Given the description of an element on the screen output the (x, y) to click on. 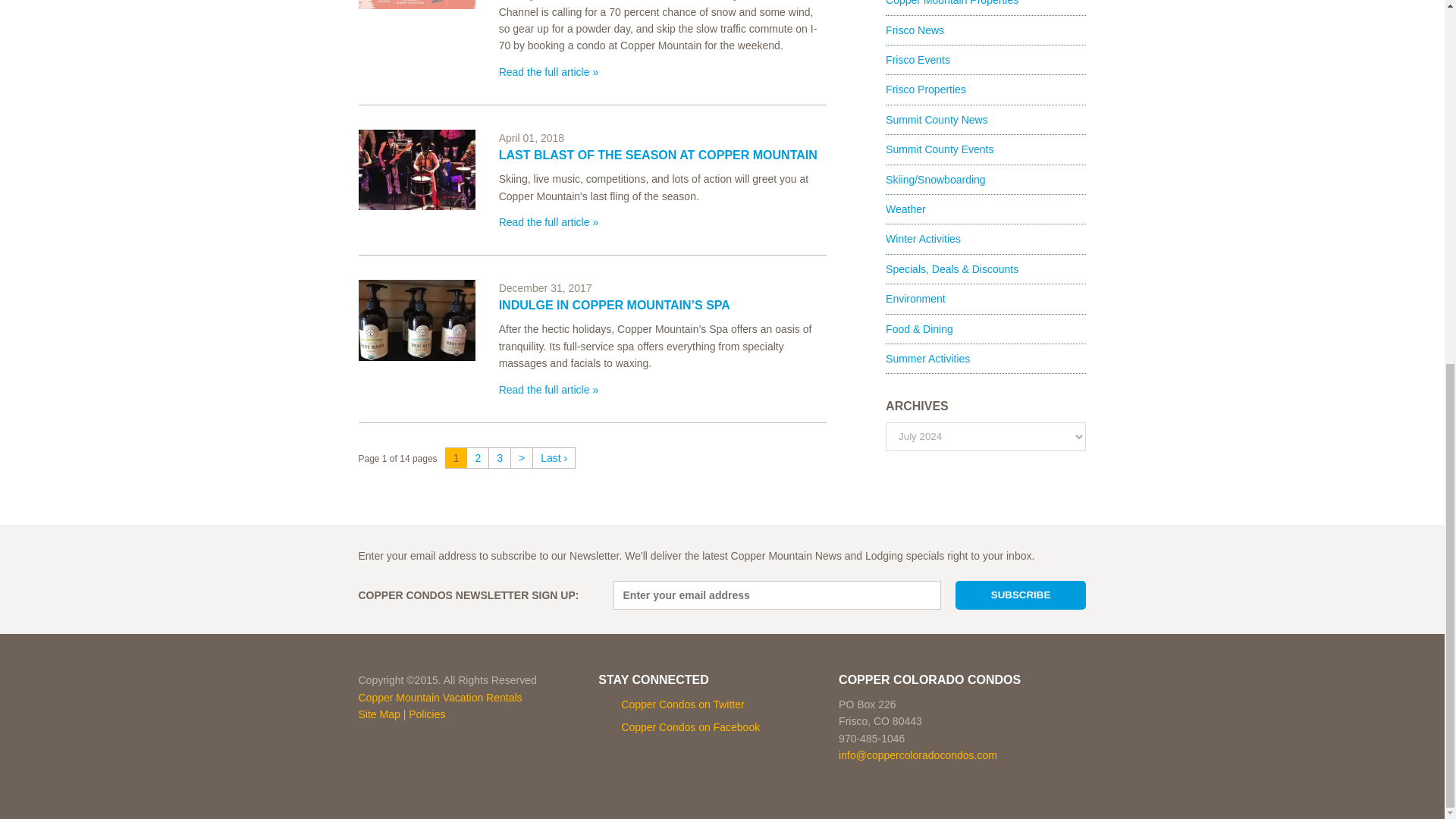
Subscribe (1020, 594)
